Given the description of an element on the screen output the (x, y) to click on. 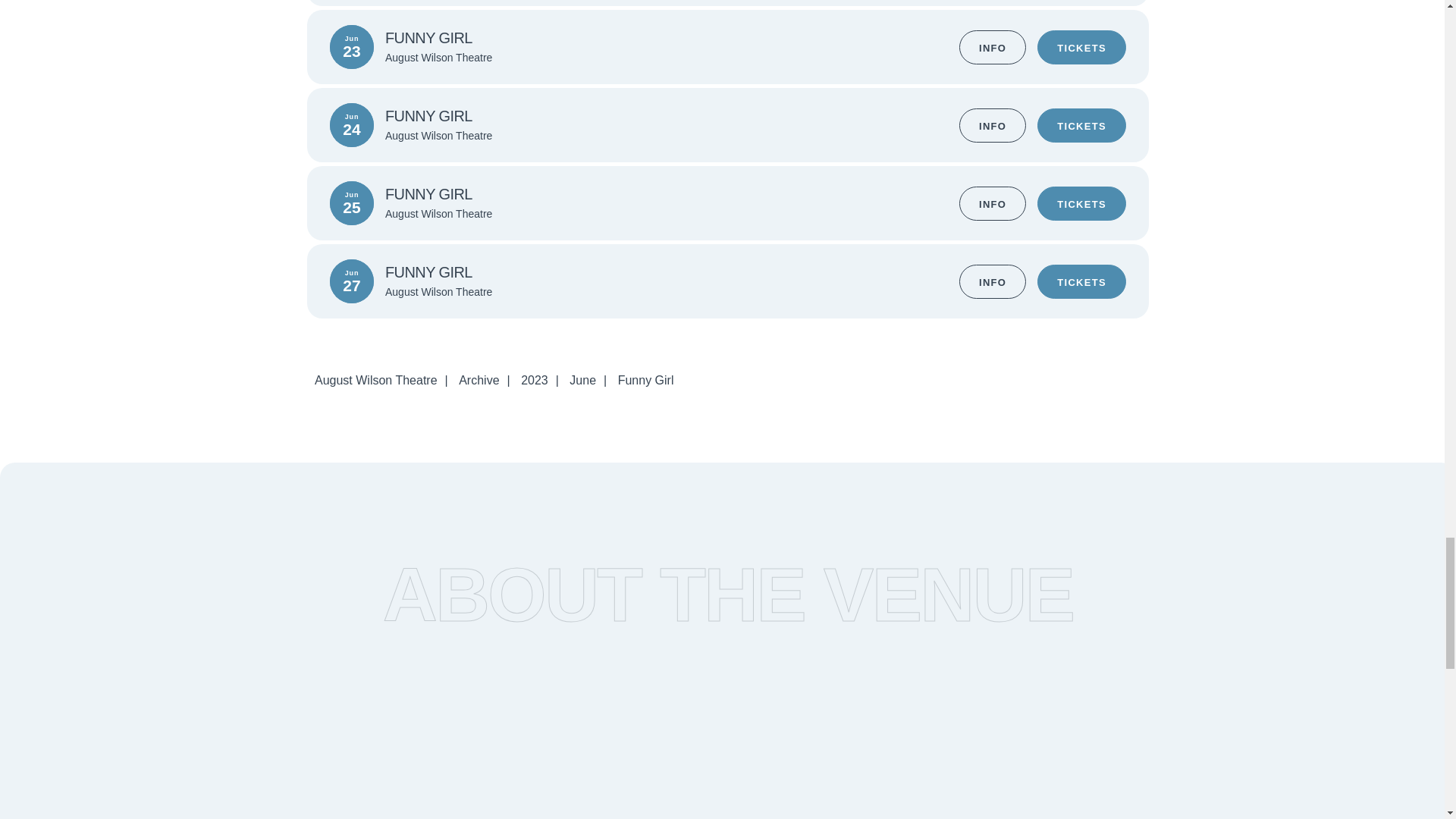
Archive (478, 379)
2023 (534, 379)
INFO (992, 203)
venue map (905, 718)
June (583, 379)
August Wilson Theatre (376, 379)
INFO (992, 124)
TICKETS (1080, 203)
INFO (992, 47)
TICKETS (1080, 47)
